Given the description of an element on the screen output the (x, y) to click on. 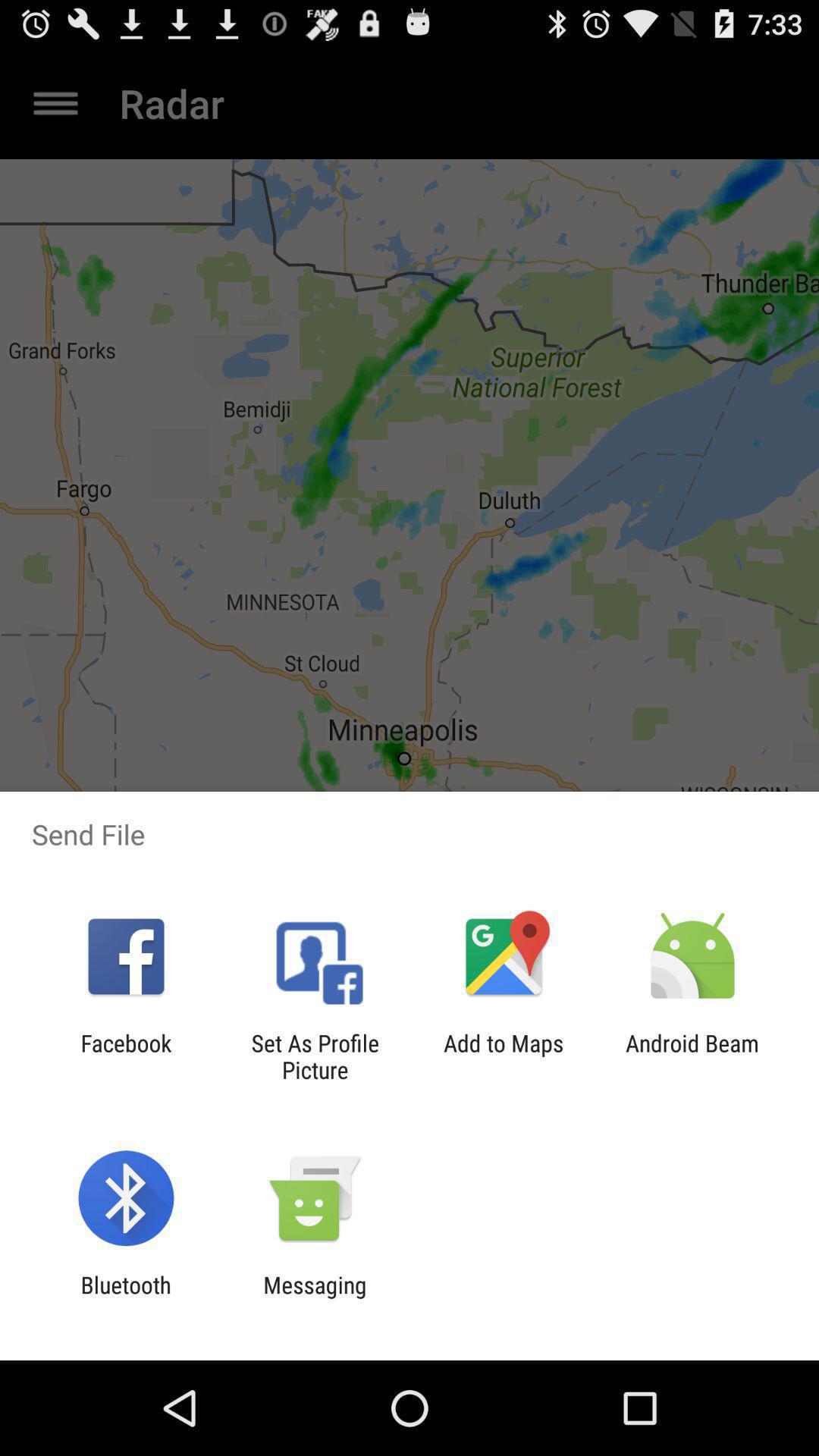
scroll to the android beam item (692, 1056)
